Given the description of an element on the screen output the (x, y) to click on. 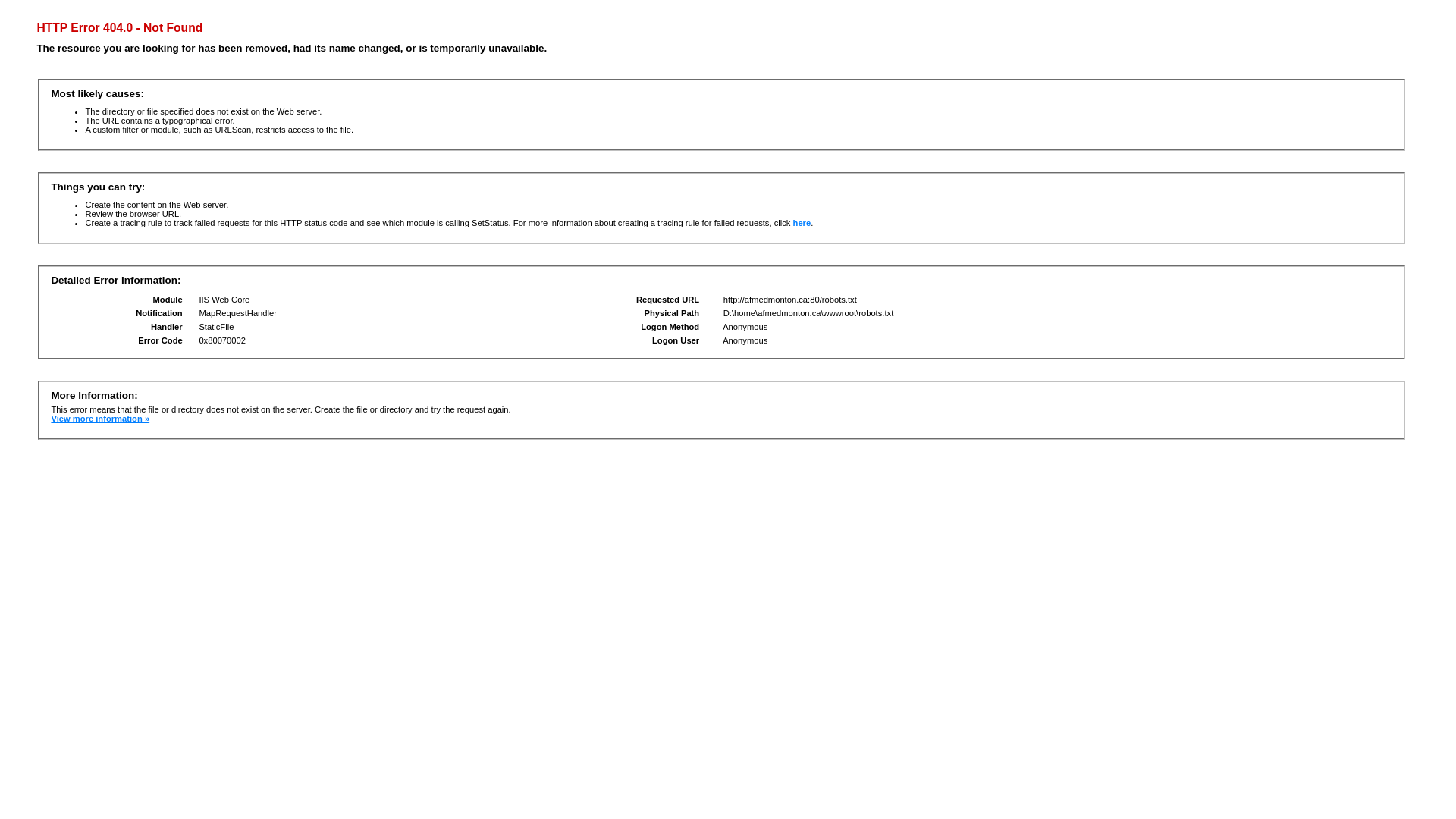
here Element type: text (802, 222)
